Given the description of an element on the screen output the (x, y) to click on. 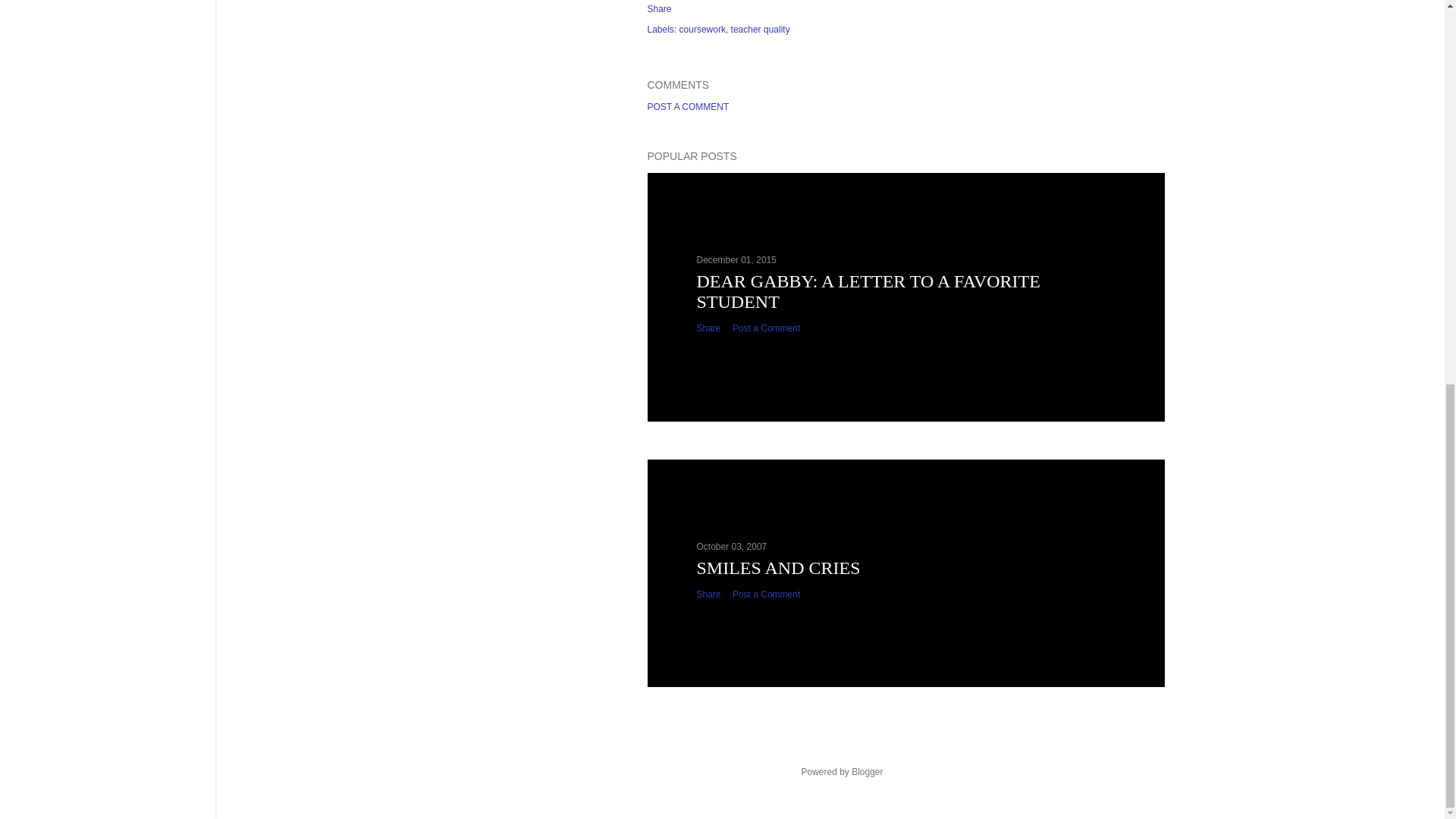
Post a Comment (765, 593)
October 03, 2007 (731, 546)
POST A COMMENT (688, 106)
December 01, 2015 (735, 259)
coursework (704, 29)
Share (707, 593)
Share (659, 9)
permanent link (735, 259)
Share (707, 327)
DEAR GABBY: A LETTER TO A FAVORITE STUDENT (867, 291)
